Given the description of an element on the screen output the (x, y) to click on. 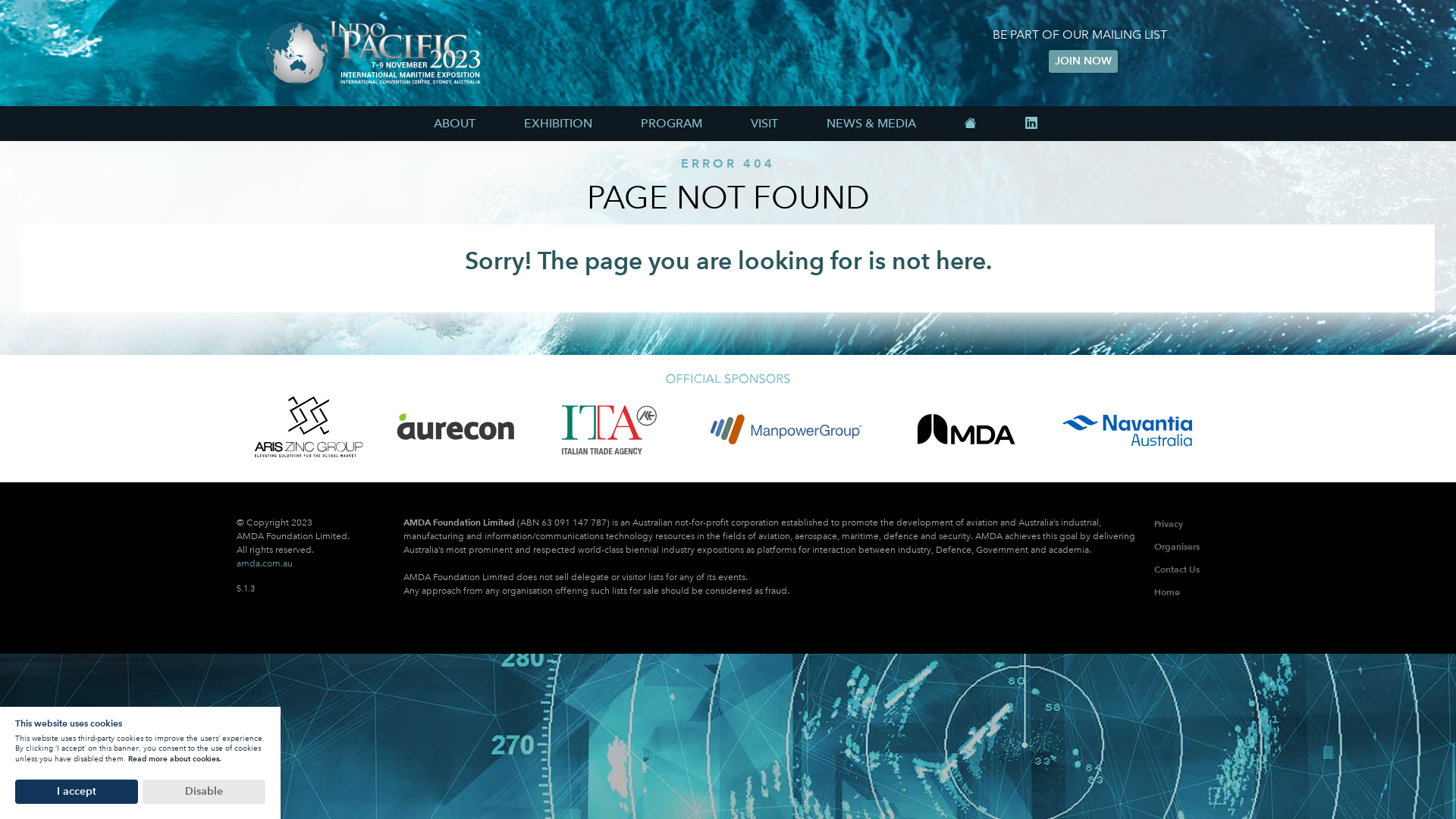
VISIT Element type: text (764, 123)
JOIN NOW Element type: text (1082, 61)
Organisers Element type: text (1176, 546)
Privacy Element type: text (1168, 523)
Disable Element type: text (203, 791)
NEWS & MEDIA Element type: text (871, 123)
Home Element type: text (1166, 591)
amda.com.au Element type: text (264, 563)
EXHIBITION Element type: text (557, 123)
PROGRAM Element type: text (671, 123)
Read more about cookies. Element type: text (174, 758)
Contact Us Element type: text (1176, 568)
ABOUT Element type: text (454, 123)
I accept Element type: text (76, 791)
